Given the description of an element on the screen output the (x, y) to click on. 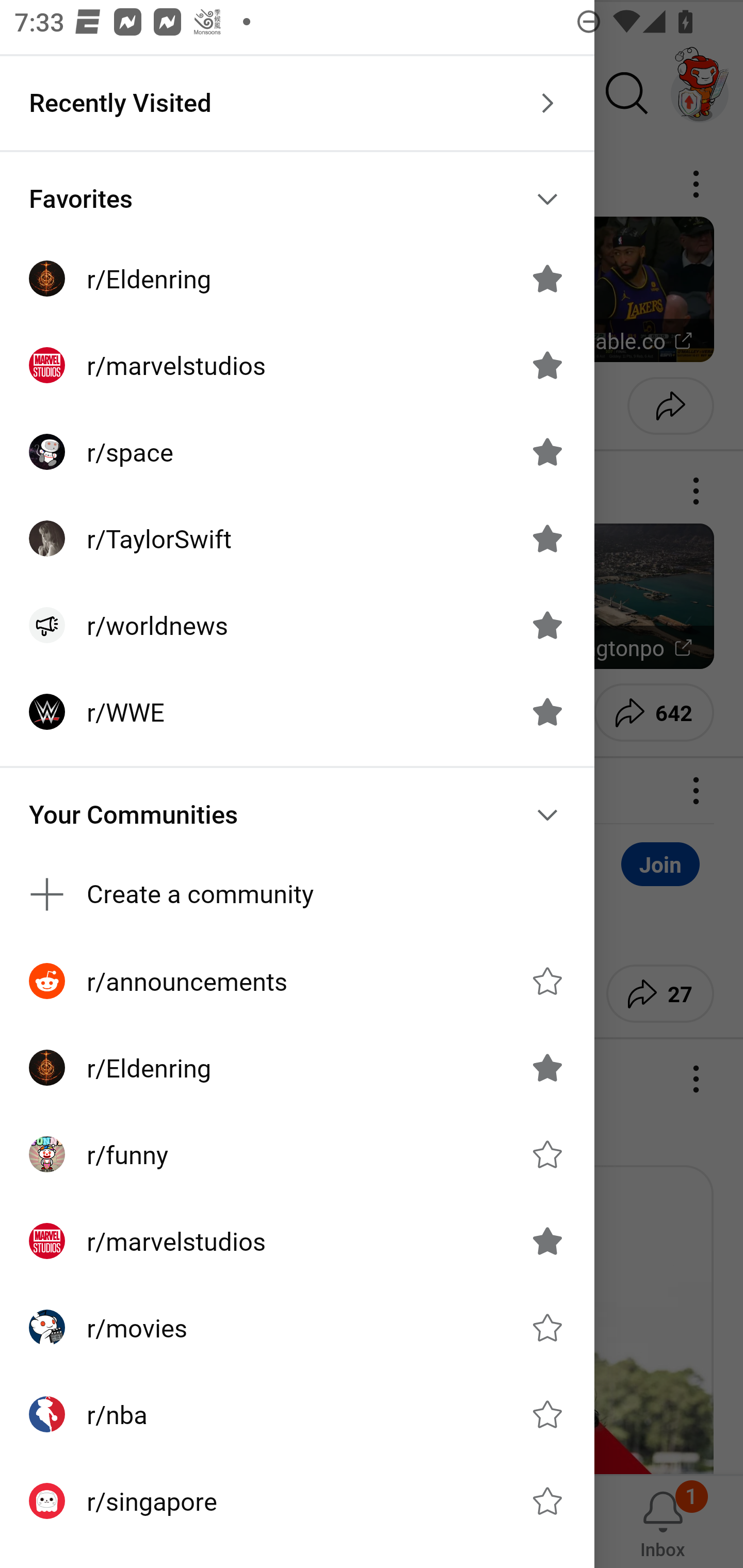
Recently Visited (297, 103)
Favorites (297, 199)
r/Eldenring Unfavorite r/Eldenring (297, 278)
Unfavorite r/Eldenring (546, 278)
r/marvelstudios Unfavorite r/marvelstudios (297, 365)
Unfavorite r/marvelstudios (546, 365)
r/space Unfavorite r/space (297, 452)
Unfavorite r/space (546, 451)
r/TaylorSwift Unfavorite r/TaylorSwift (297, 538)
Unfavorite r/TaylorSwift (546, 538)
r/worldnews Unfavorite r/worldnews (297, 624)
Unfavorite r/worldnews (546, 624)
r/WWE Unfavorite r/WWE (297, 711)
Unfavorite r/WWE (546, 711)
Your Communities (297, 815)
Create a community (297, 894)
r/announcements Favorite r/announcements (297, 980)
Favorite r/announcements (546, 980)
r/Eldenring Unfavorite r/Eldenring (297, 1067)
Unfavorite r/Eldenring (546, 1067)
r/funny Favorite r/funny (297, 1154)
Favorite r/funny (546, 1154)
r/marvelstudios Unfavorite r/marvelstudios (297, 1240)
Unfavorite r/marvelstudios (546, 1241)
r/movies Favorite r/movies (297, 1327)
Favorite r/movies (546, 1327)
r/nba Favorite r/nba (297, 1414)
Favorite r/nba (546, 1414)
r/singapore Favorite r/singapore (297, 1501)
Favorite r/singapore (546, 1501)
